Given the description of an element on the screen output the (x, y) to click on. 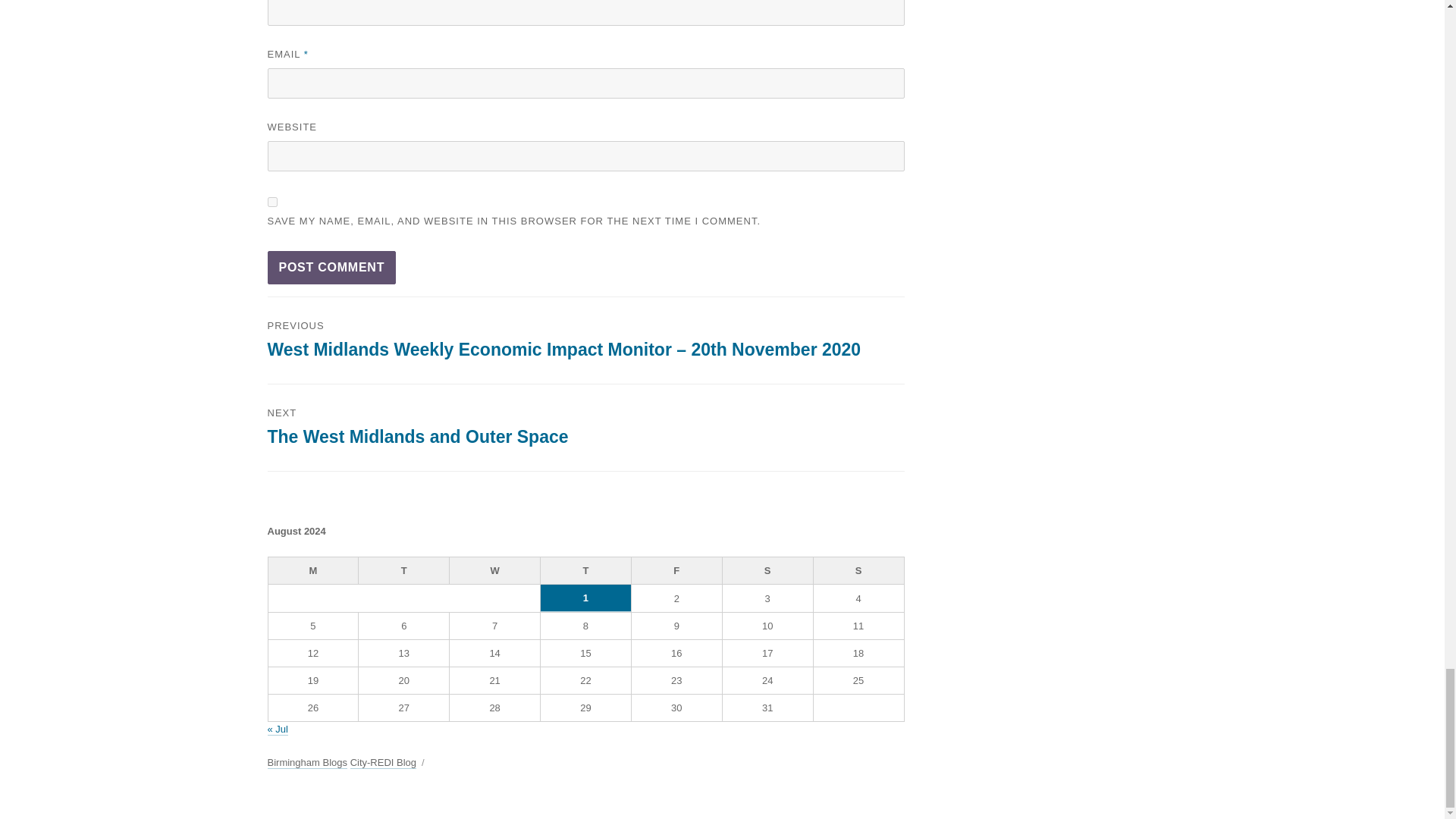
Saturday (767, 570)
Monday (313, 570)
Thursday (585, 570)
Wednesday (494, 570)
Post Comment (331, 267)
Post Comment (331, 267)
Sunday (858, 570)
Friday (676, 570)
yes (271, 202)
Tuesday (403, 570)
